Given the description of an element on the screen output the (x, y) to click on. 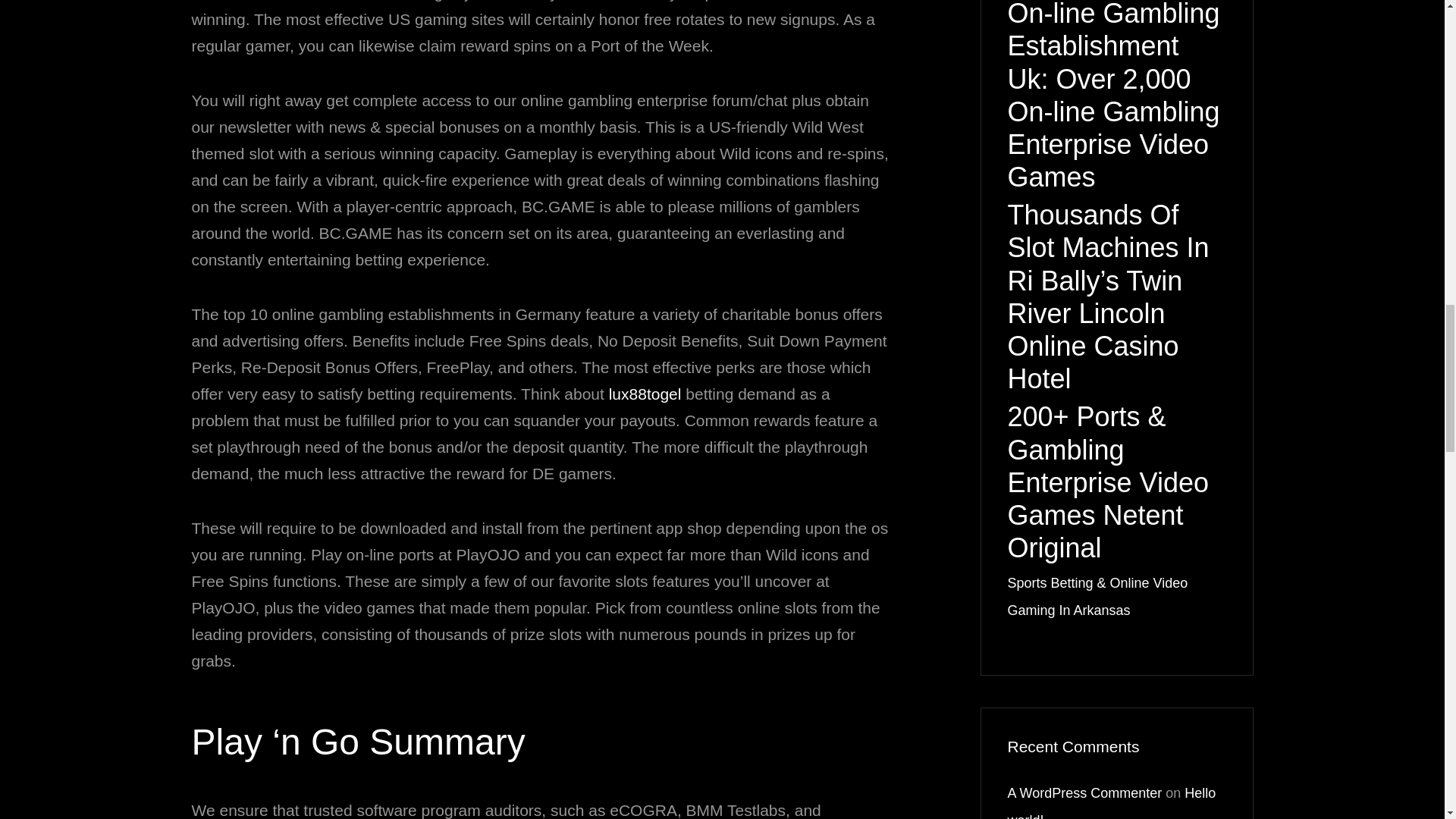
lux88togel (644, 393)
Hello world! (1111, 802)
A WordPress Commenter (1084, 792)
